Given the description of an element on the screen output the (x, y) to click on. 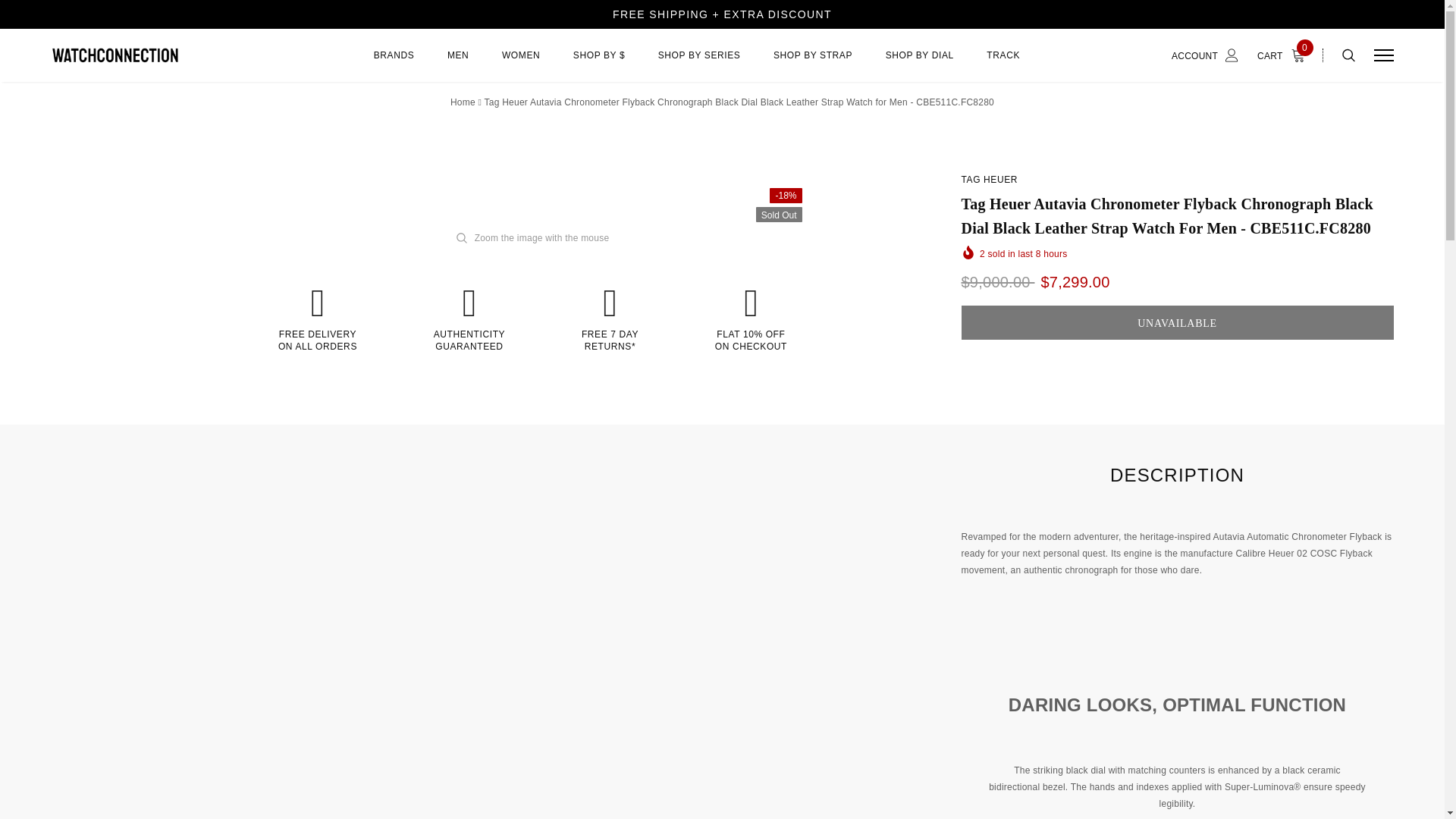
Tag Heuer (988, 179)
Unavailable (1176, 322)
BRANDS (394, 63)
Right Menu (1383, 54)
Cart (1285, 54)
Logo (167, 54)
